Given the description of an element on the screen output the (x, y) to click on. 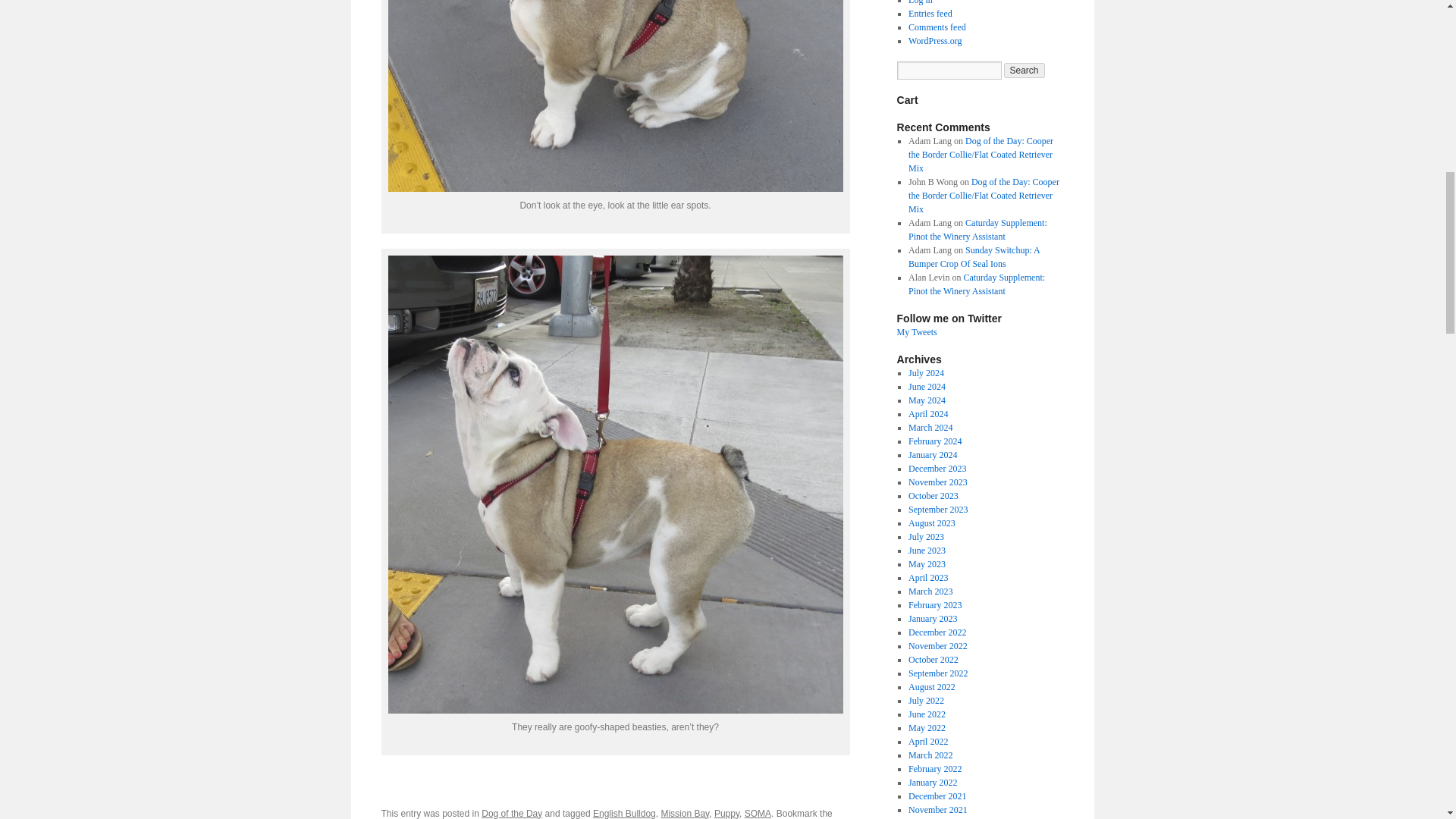
Dog of the Day (511, 813)
English Bulldog (624, 813)
Search (1024, 70)
SOMA (757, 813)
Mission Bay (685, 813)
Puppy (726, 813)
